Given the description of an element on the screen output the (x, y) to click on. 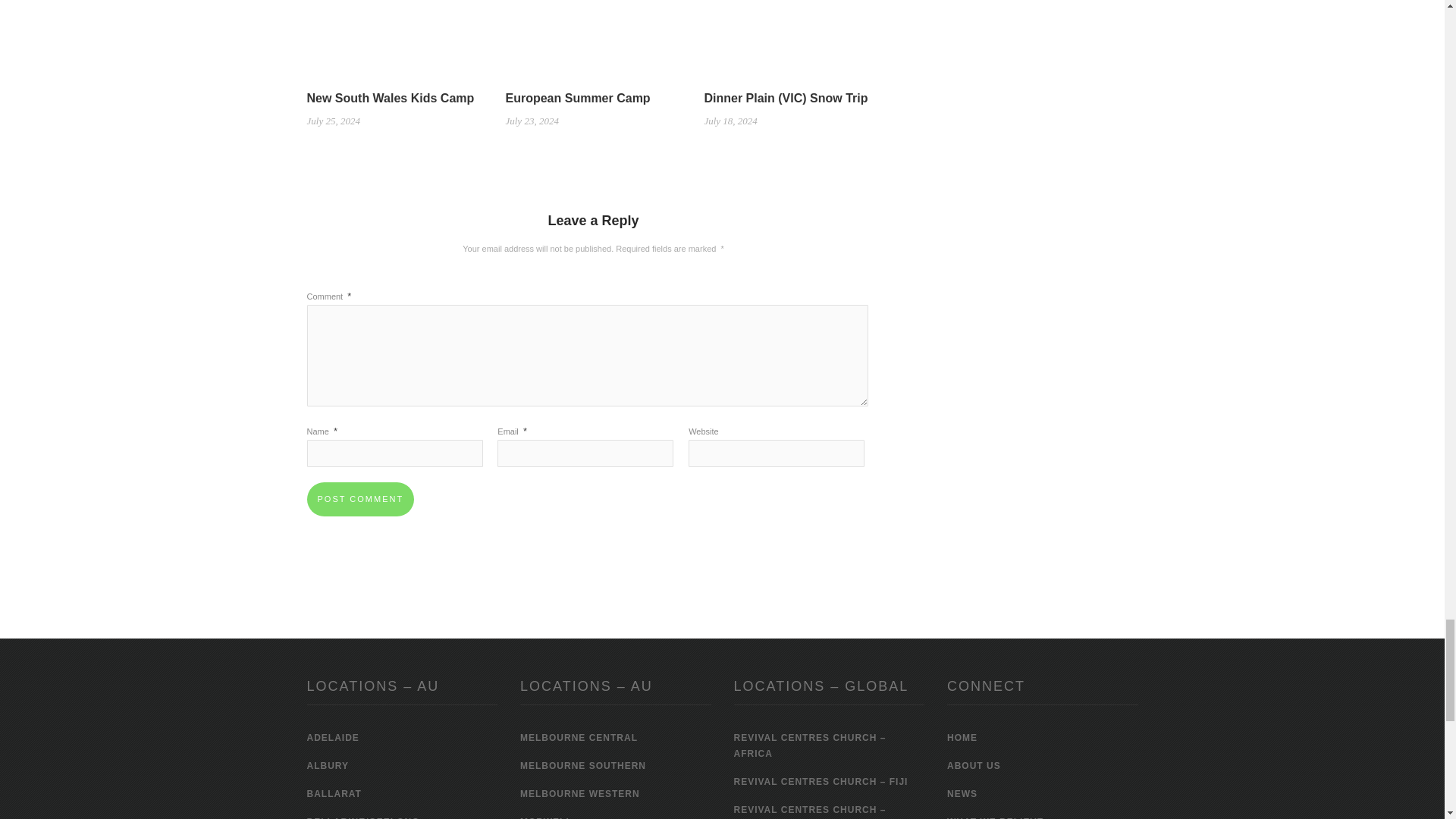
New South Wales Kids Camp (389, 97)
New South Wales Kids Camp (393, 14)
European Summer Camp (593, 14)
Post Comment (359, 499)
European Summer Camp (577, 97)
